Given the description of an element on the screen output the (x, y) to click on. 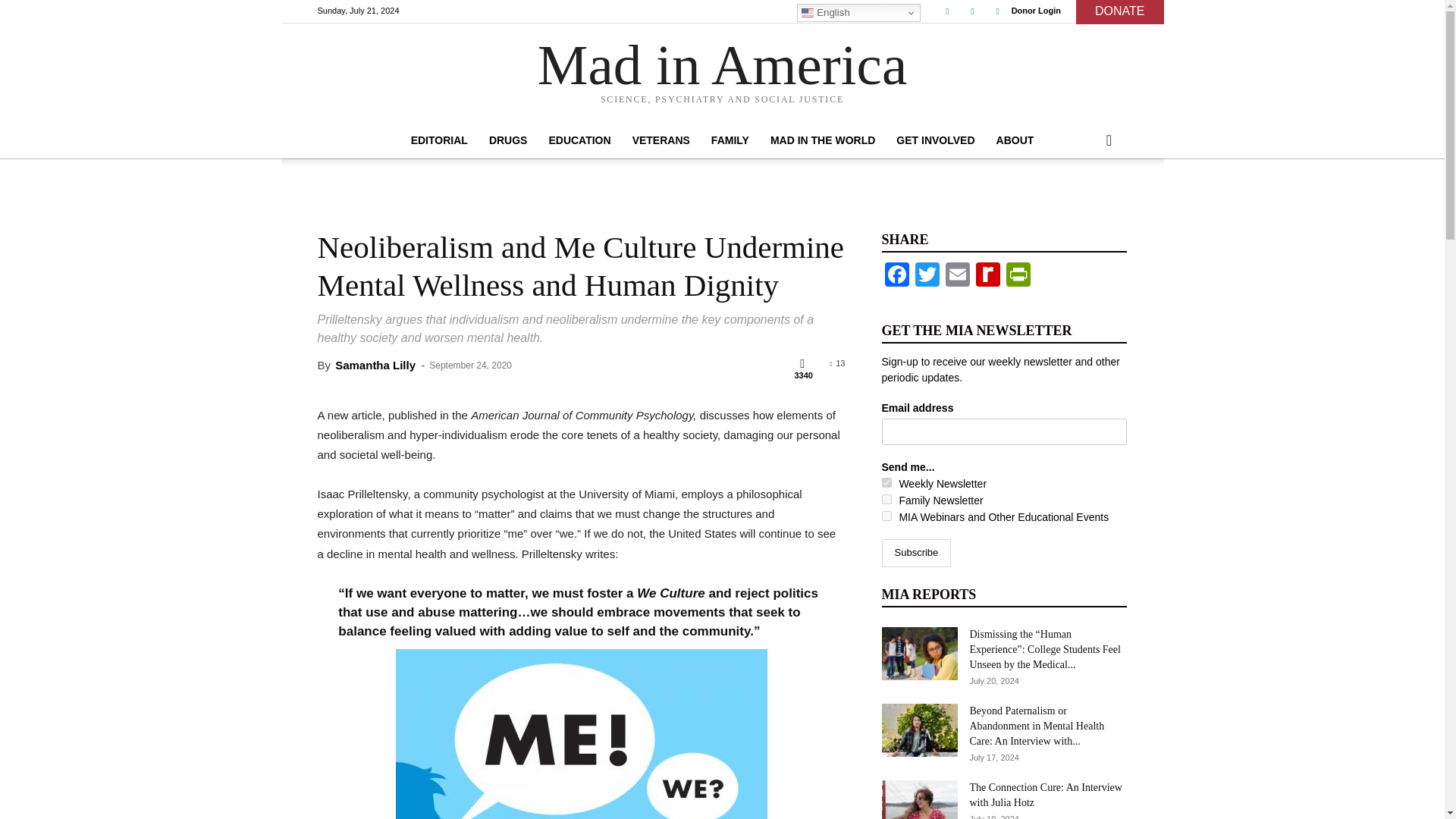
59a3706891 (885, 515)
Facebook (947, 10)
Youtube (998, 10)
Posts by Samantha Lilly (374, 364)
a8b577bac2 (885, 482)
64ec82b4cd (885, 499)
Subscribe (915, 552)
Twitter (972, 10)
